Given the description of an element on the screen output the (x, y) to click on. 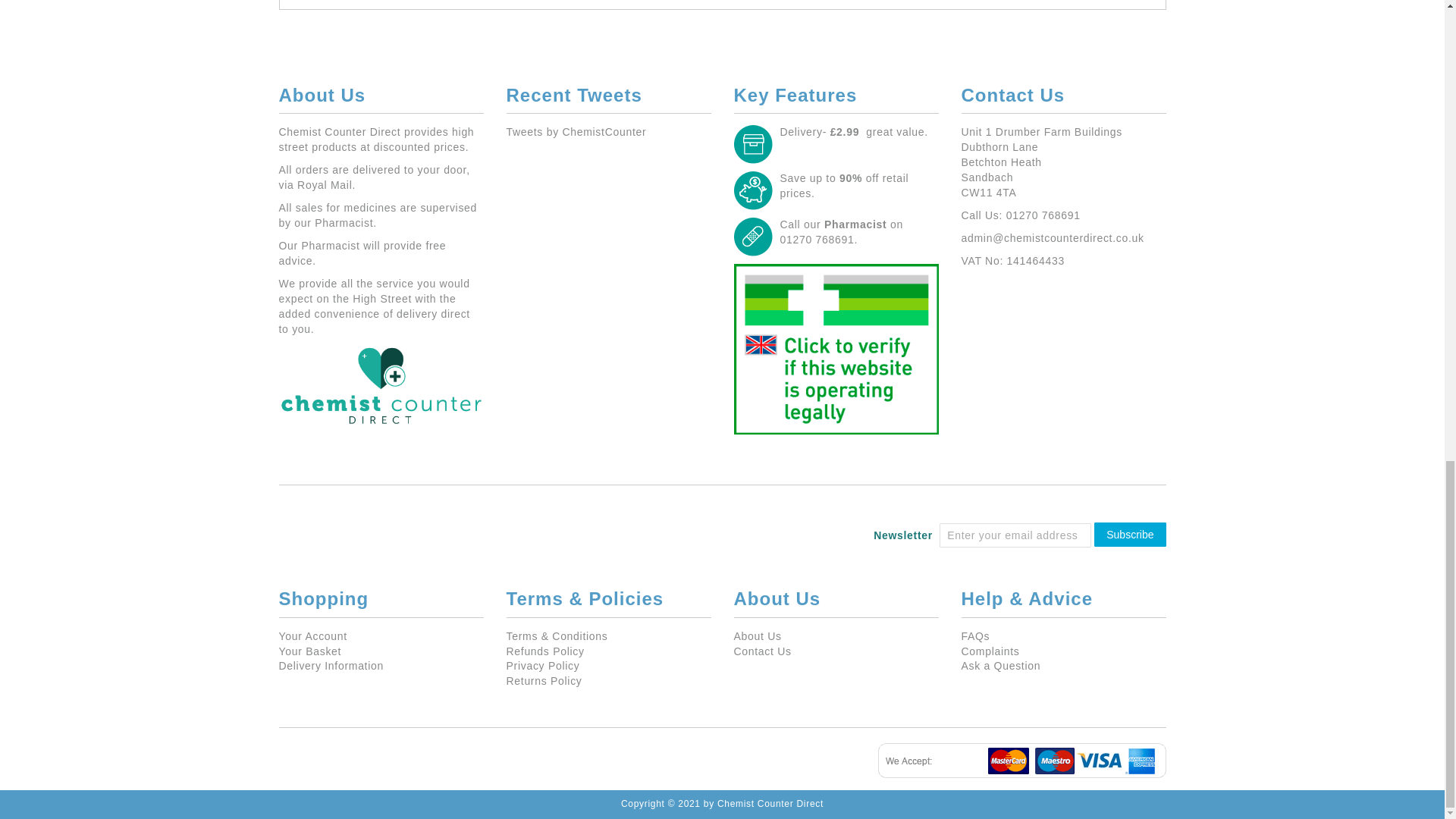
Subscribe (1130, 534)
